Given the description of an element on the screen output the (x, y) to click on. 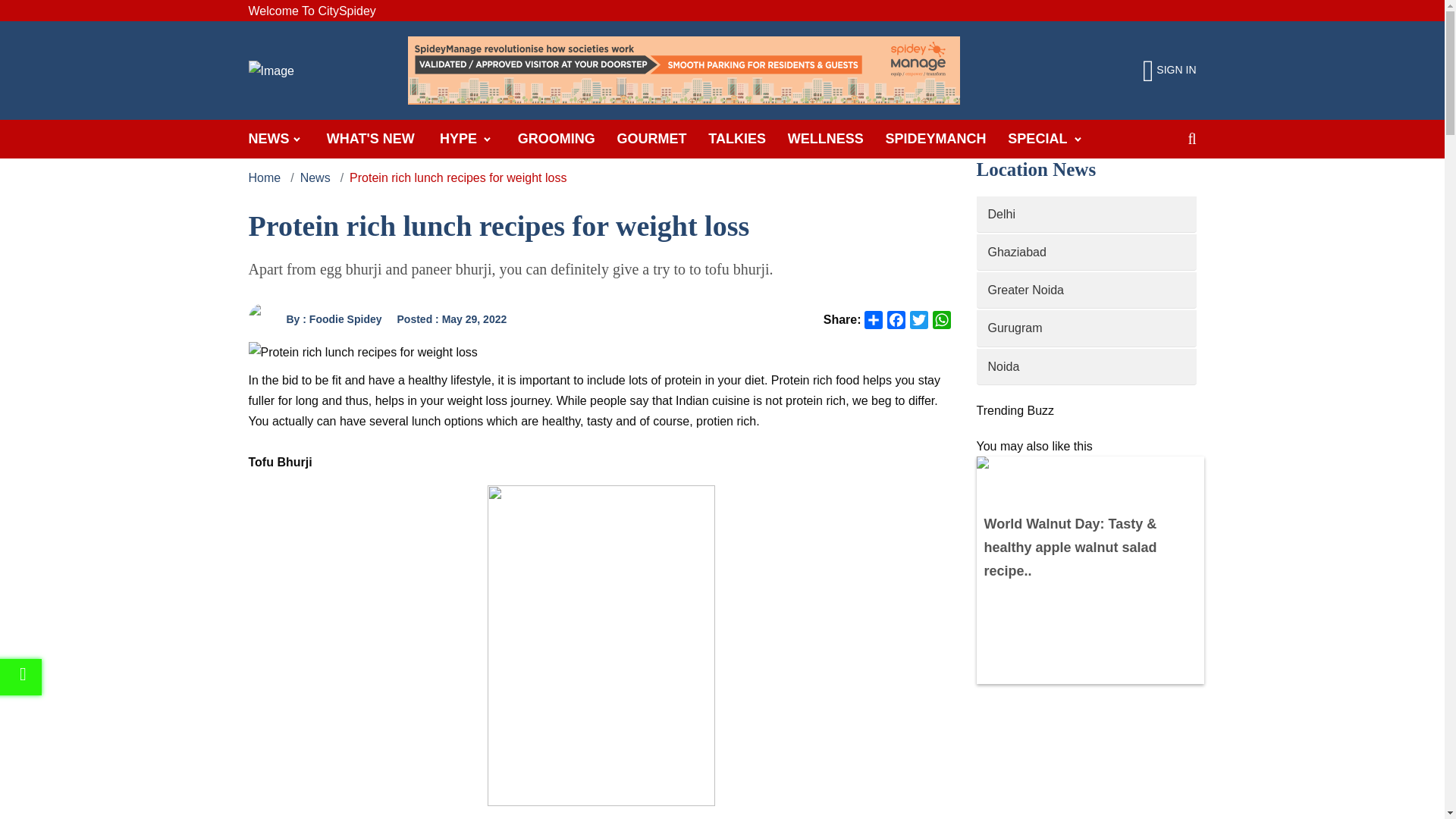
SIGN IN (1169, 70)
Foodie Spidey (263, 318)
Protein rich lunch recipes for weight loss (362, 352)
Login (1169, 70)
